Given the description of an element on the screen output the (x, y) to click on. 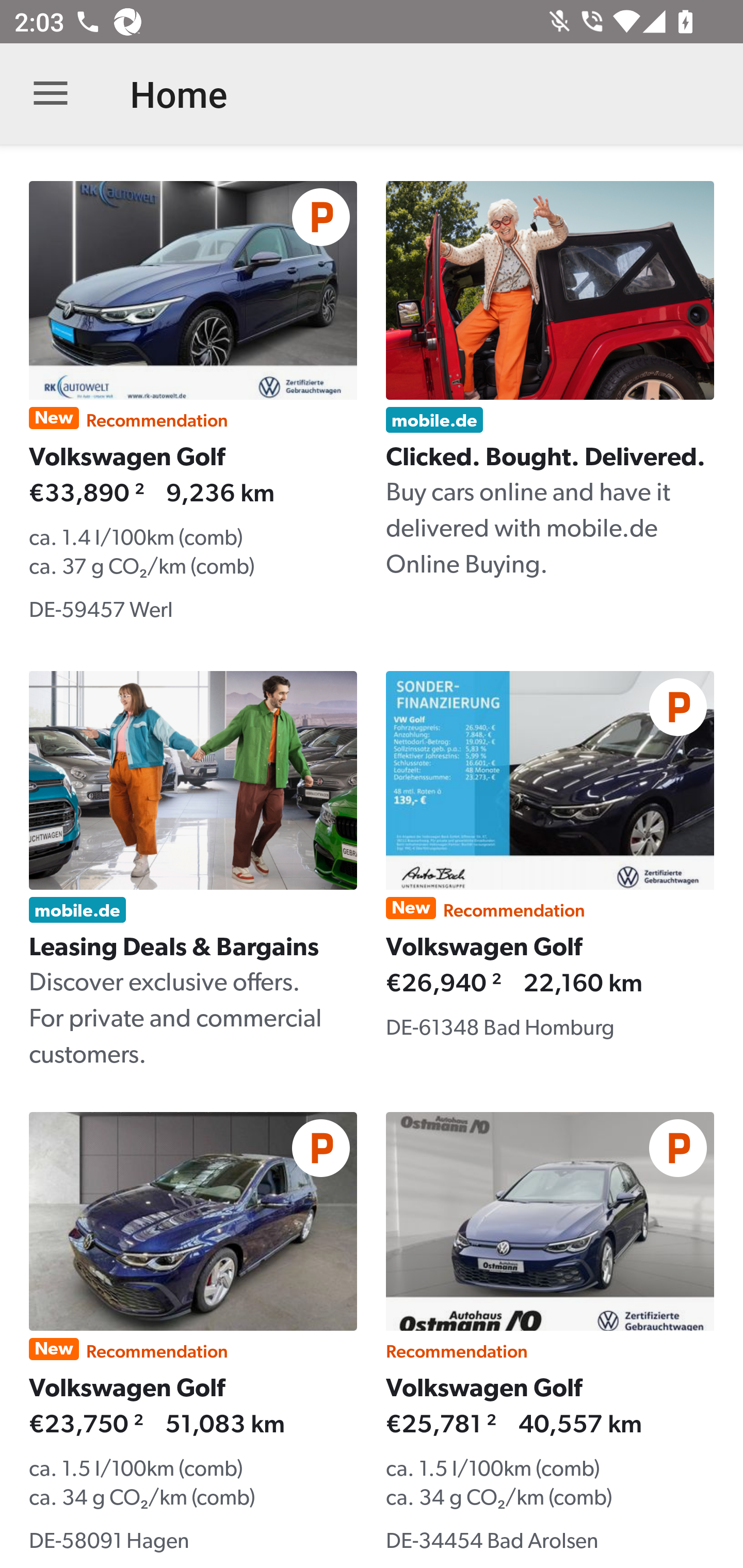
Open navigation bar (50, 93)
